Given the description of an element on the screen output the (x, y) to click on. 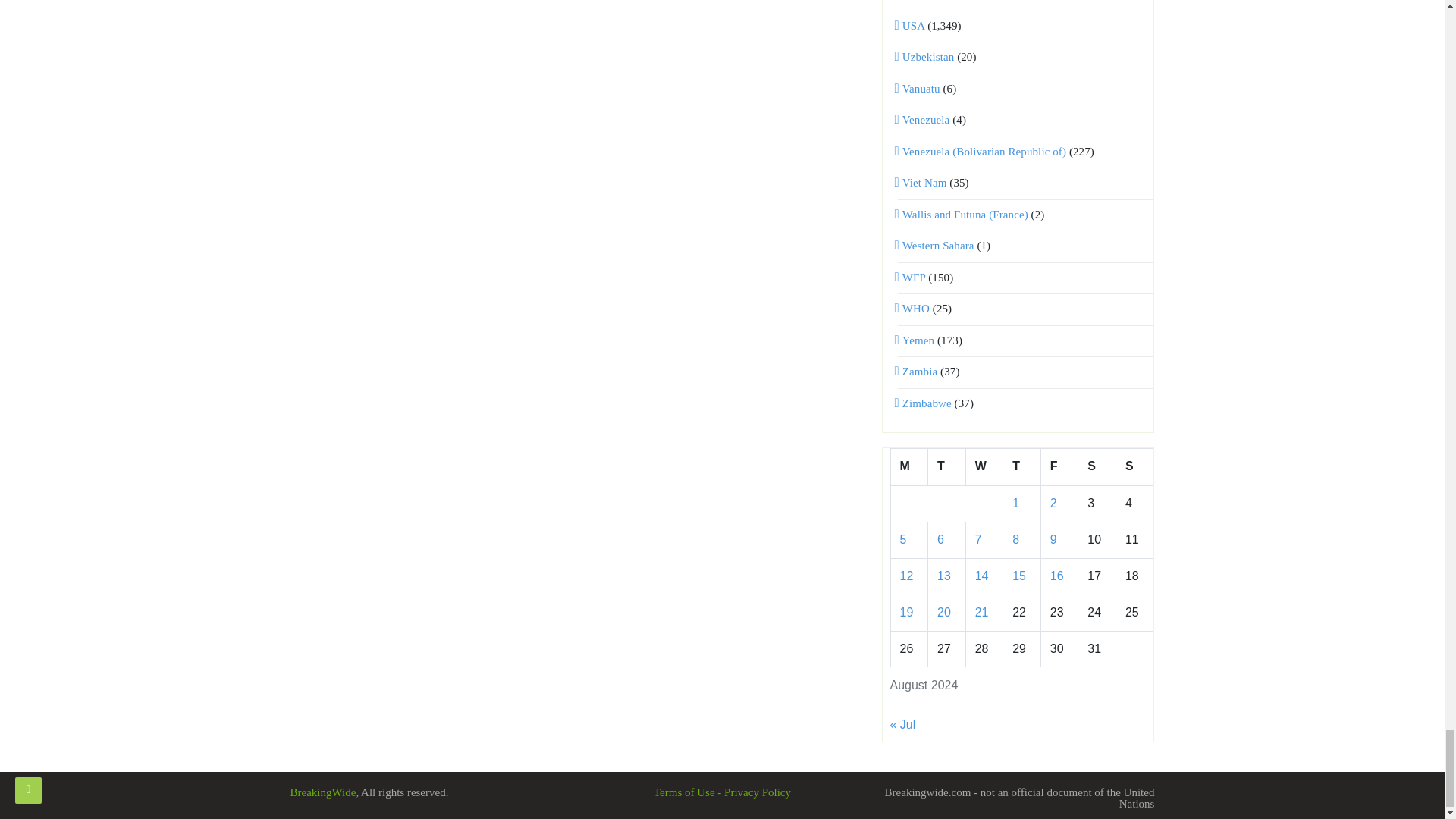
Thursday (1022, 466)
Friday (1059, 466)
Monday (908, 466)
Tuesday (947, 466)
Saturday (1097, 466)
Sunday (1134, 466)
Wednesday (984, 466)
